Given the description of an element on the screen output the (x, y) to click on. 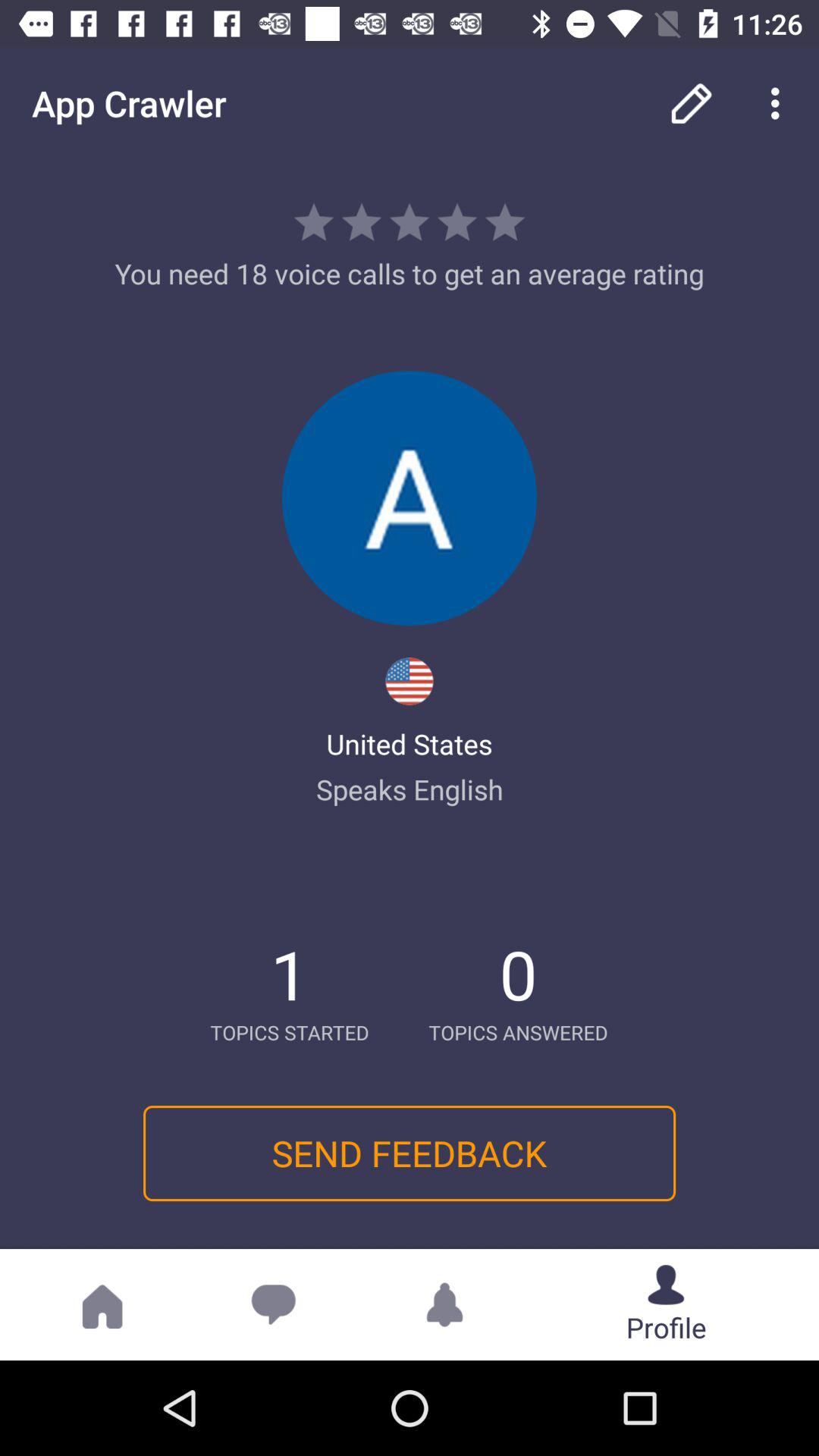
press the send feedback icon (409, 1153)
